Given the description of an element on the screen output the (x, y) to click on. 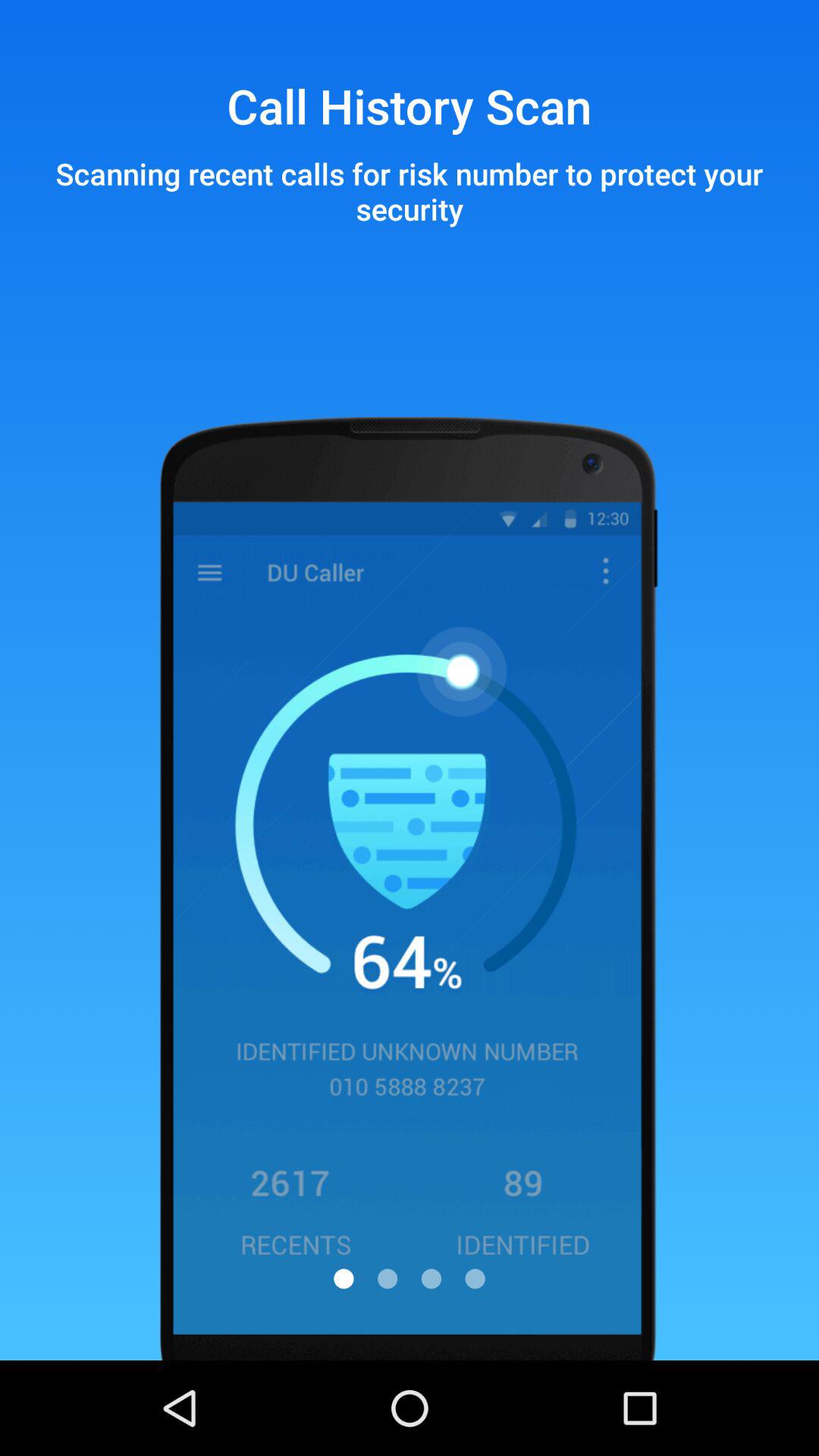
open the item below scanning recent calls item (431, 1278)
